Given the description of an element on the screen output the (x, y) to click on. 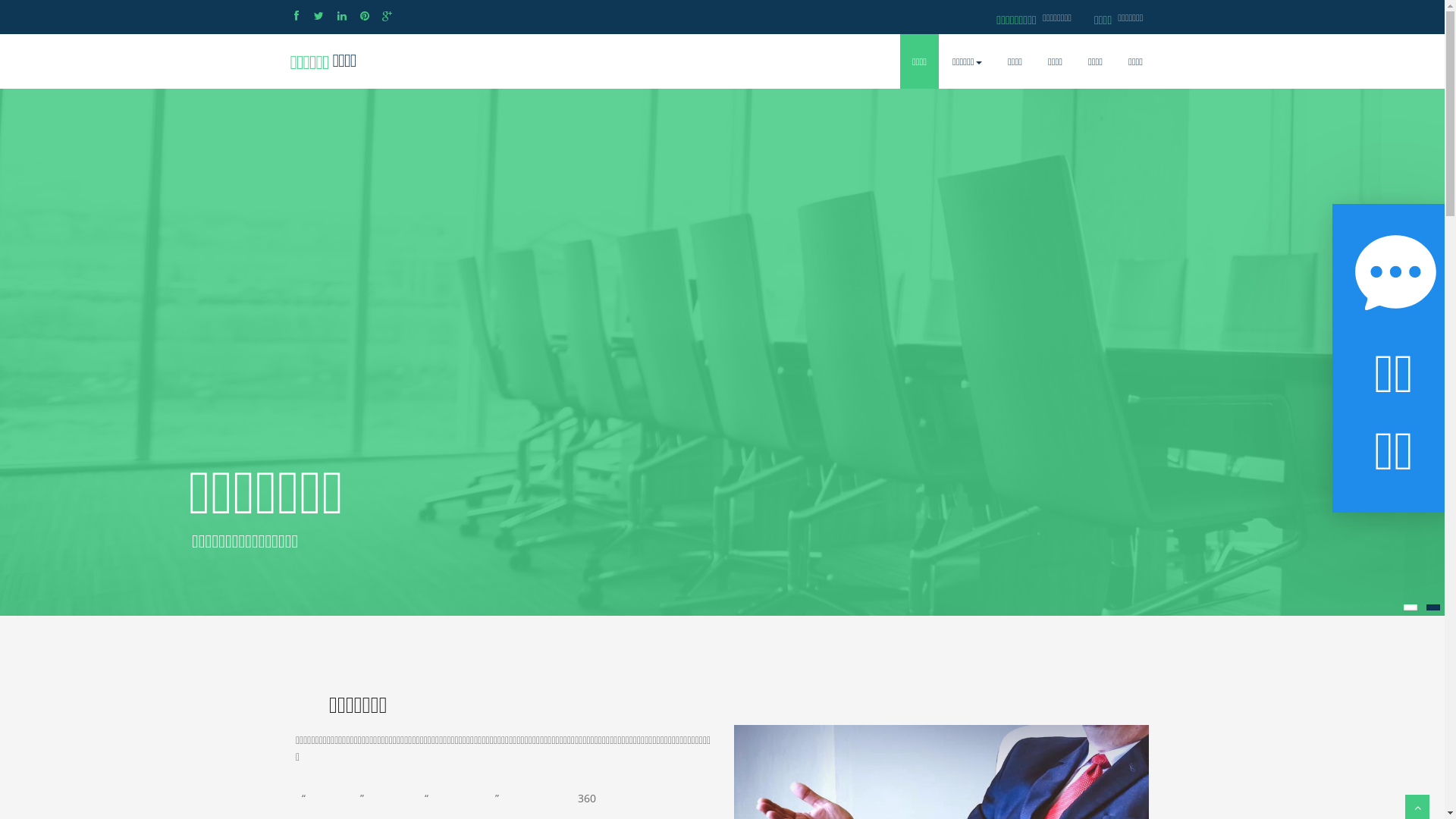
1 Element type: text (1410, 607)
2 Element type: text (1433, 607)
